Given the description of an element on the screen output the (x, y) to click on. 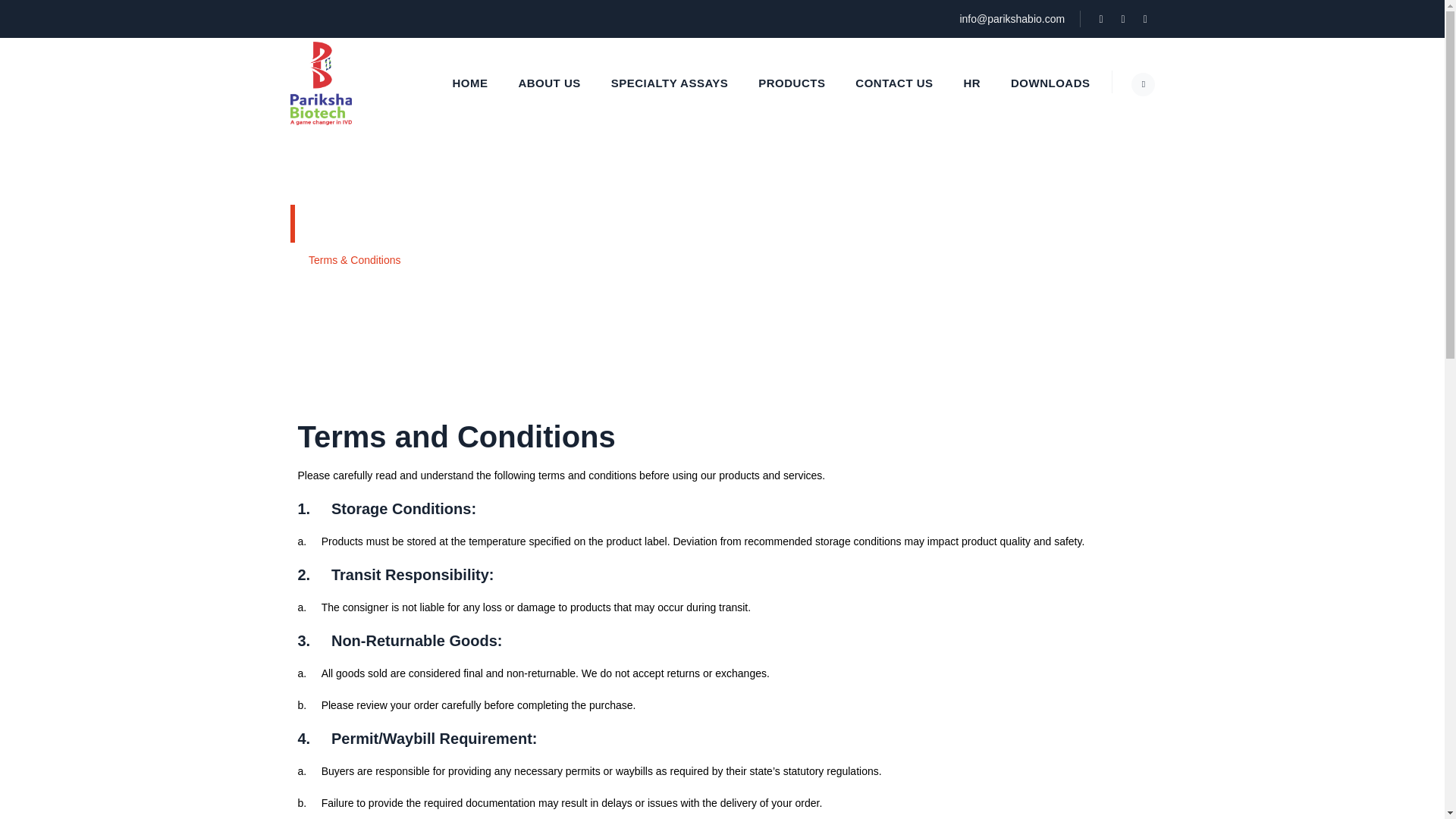
ABOUT US (548, 82)
PRODUCTS (791, 82)
SPECIALTY ASSAYS (669, 82)
